Given the description of an element on the screen output the (x, y) to click on. 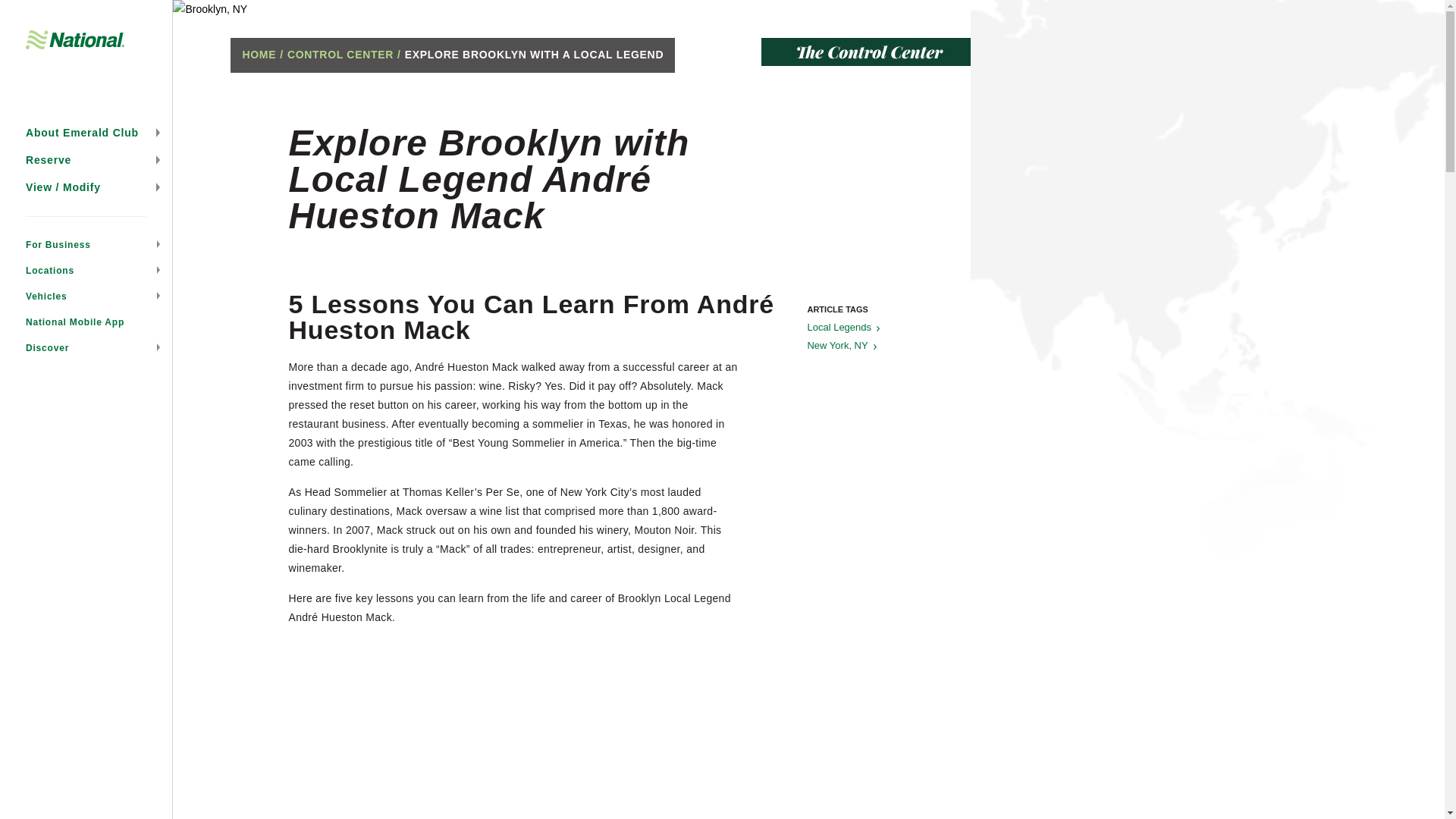
Vehicles (85, 296)
Reserve (85, 159)
Locations (85, 270)
For Business (85, 244)
About Emerald Club (85, 132)
